Given the description of an element on the screen output the (x, y) to click on. 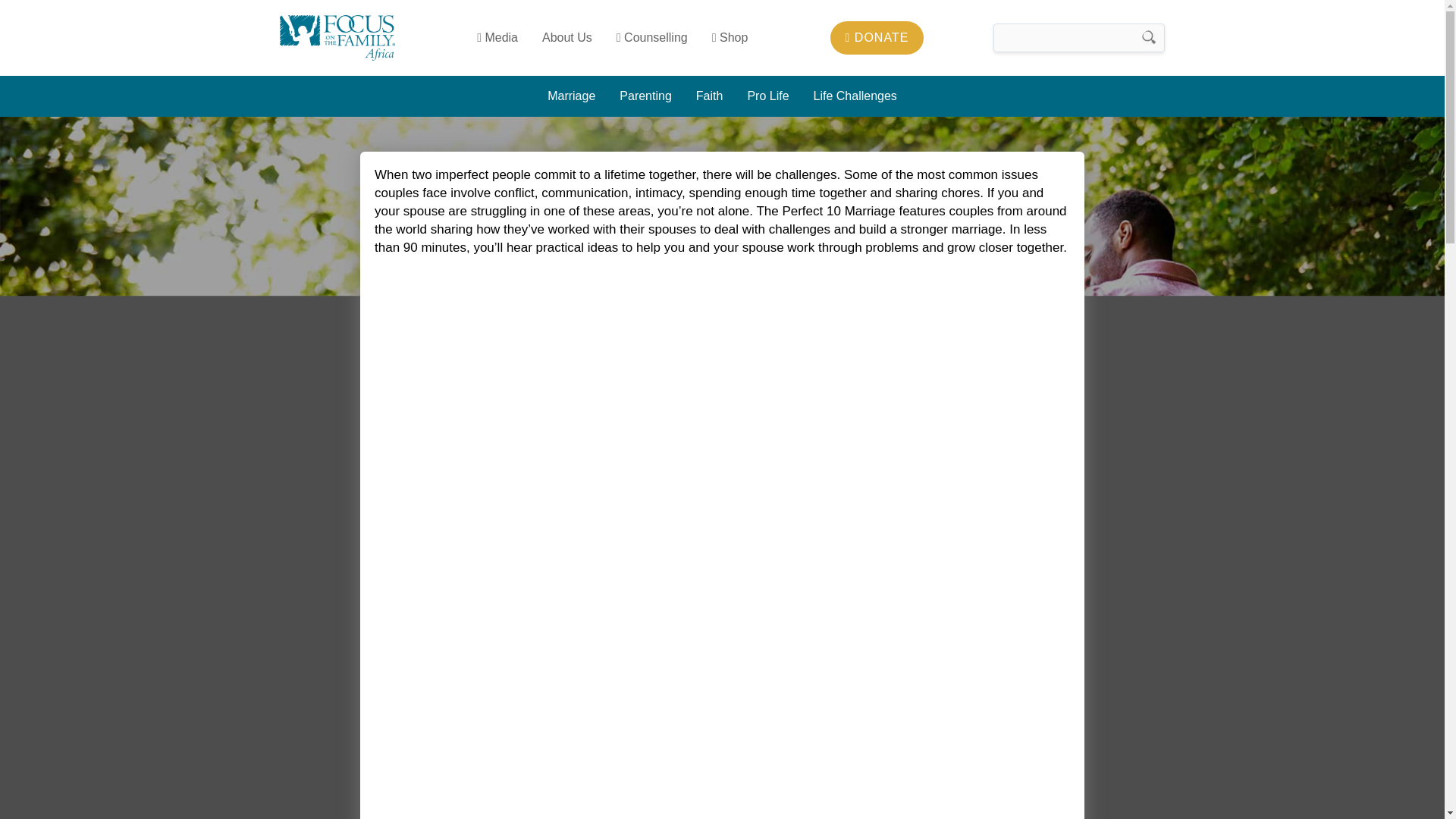
Shop (730, 37)
Parenting (645, 96)
Search (1149, 37)
Faith (709, 96)
Media (496, 37)
About Us (566, 37)
Pro Life (767, 96)
Marriage (571, 96)
Life Challenges (855, 96)
DONATE (876, 37)
